Given the description of an element on the screen output the (x, y) to click on. 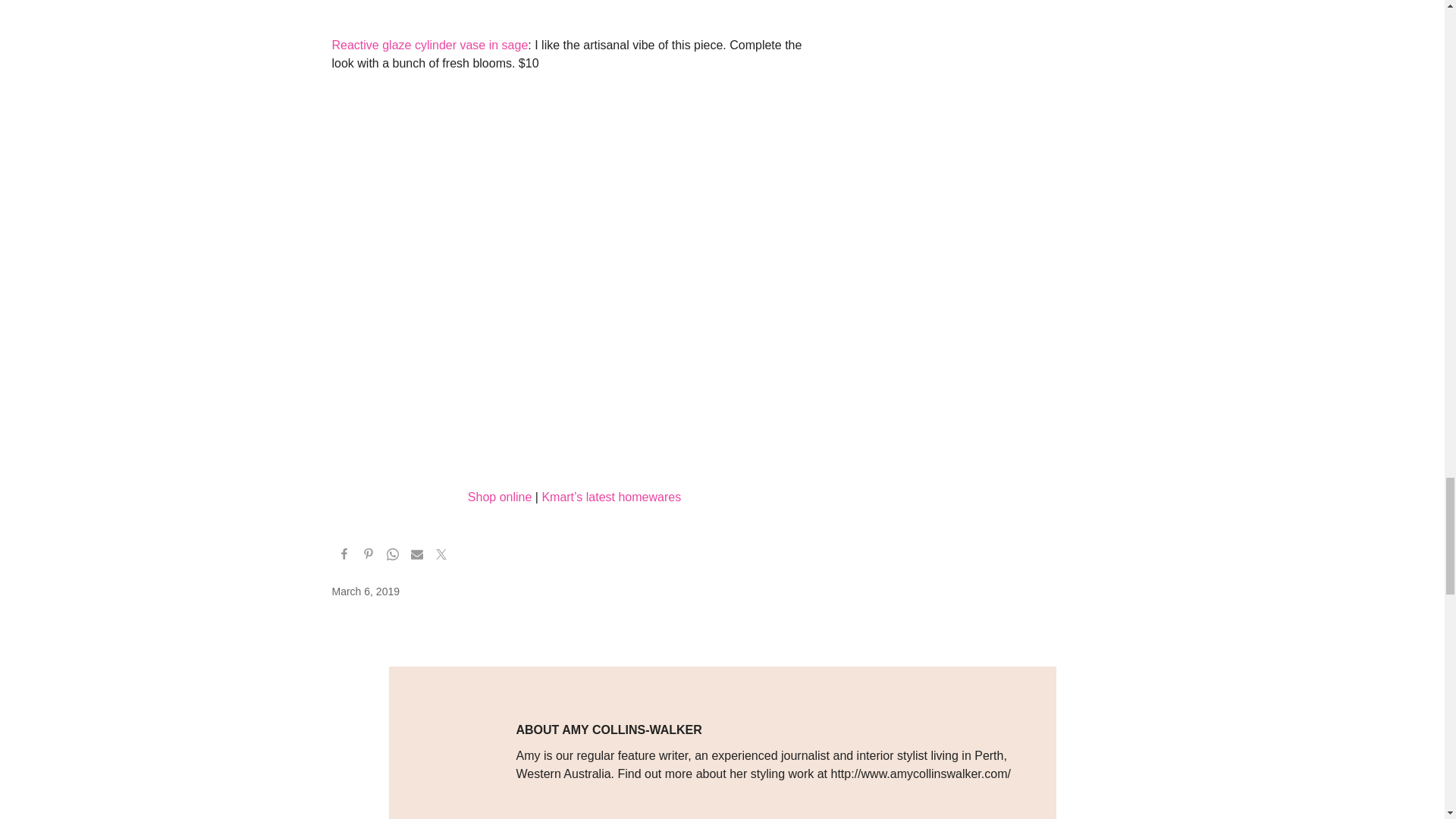
Share via Email (416, 556)
Share on Pinterest (368, 556)
Share on Facebook (343, 556)
Share on Twitter (440, 556)
